Given the description of an element on the screen output the (x, y) to click on. 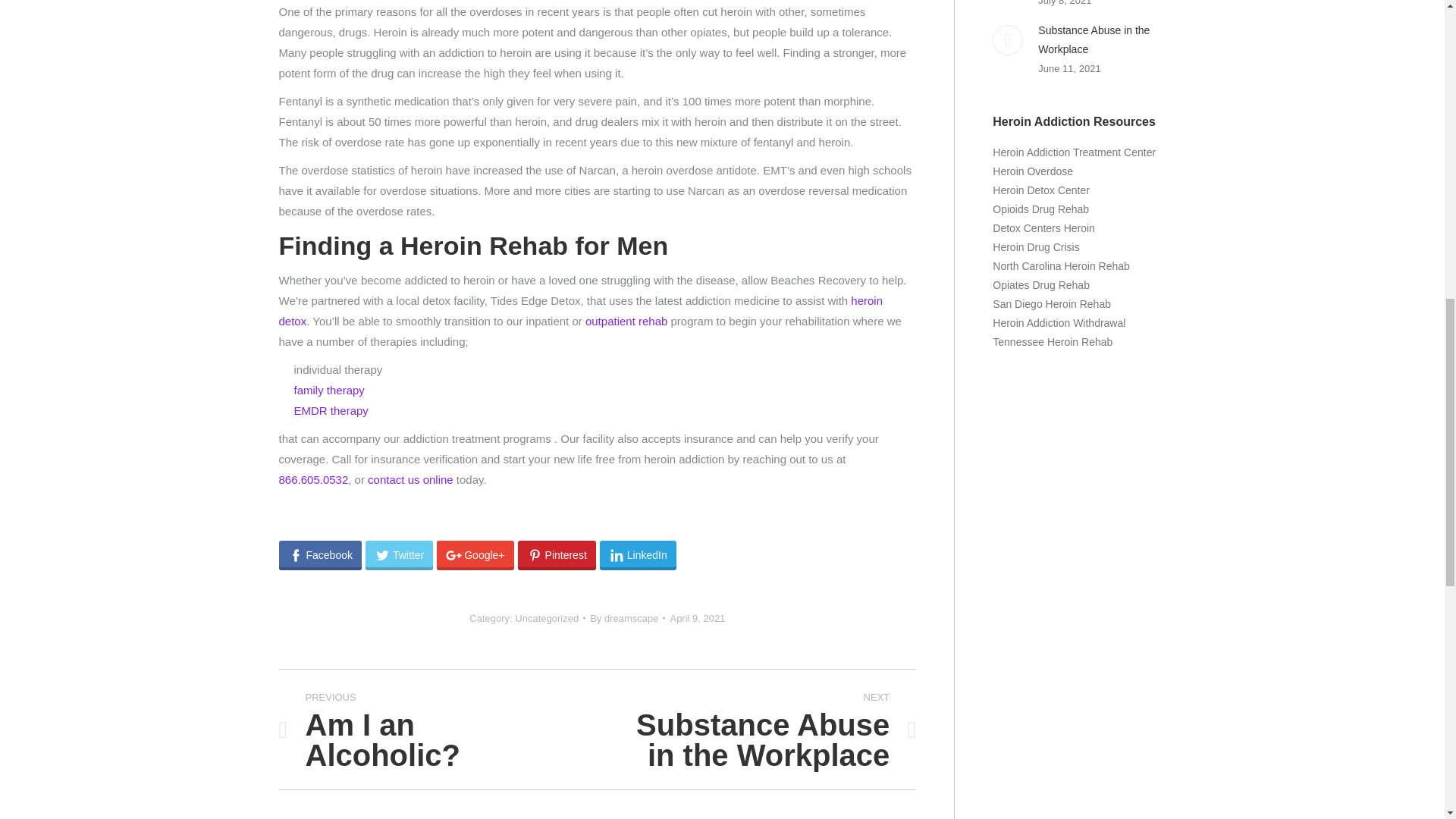
contact us online (410, 479)
heroin detox (767, 729)
LinkedIn (581, 310)
outpatient rehab (638, 555)
View all posts by dreamscape (427, 729)
April 9, 2021 (625, 320)
Uncategorized (627, 618)
Pinterest (697, 618)
Facebook (546, 618)
EMDR therapy (556, 555)
Twitter (320, 555)
family therapy (331, 410)
By dreamscape (398, 555)
